Given the description of an element on the screen output the (x, y) to click on. 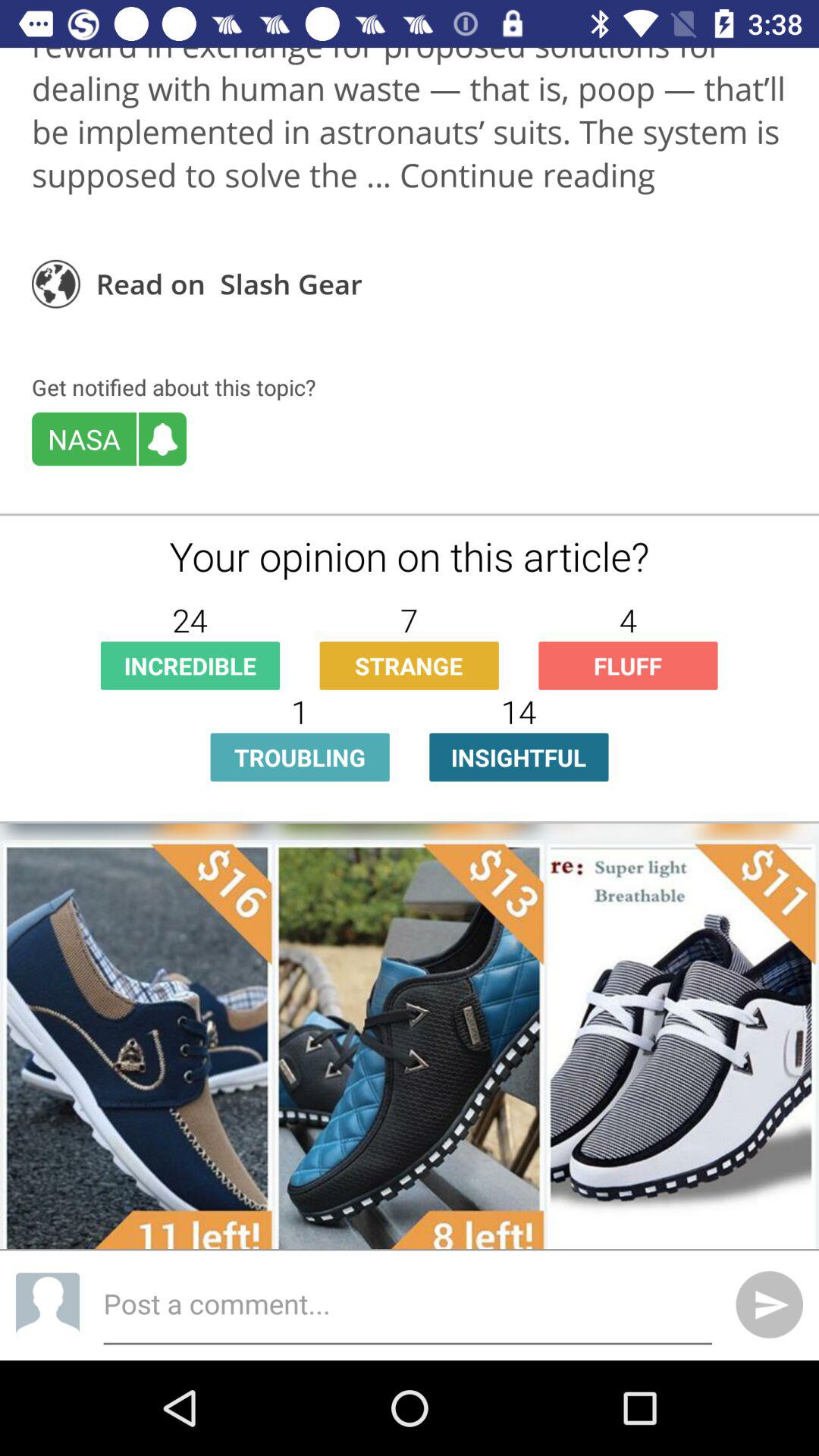
choose the icon at the bottom right corner (769, 1304)
